Given the description of an element on the screen output the (x, y) to click on. 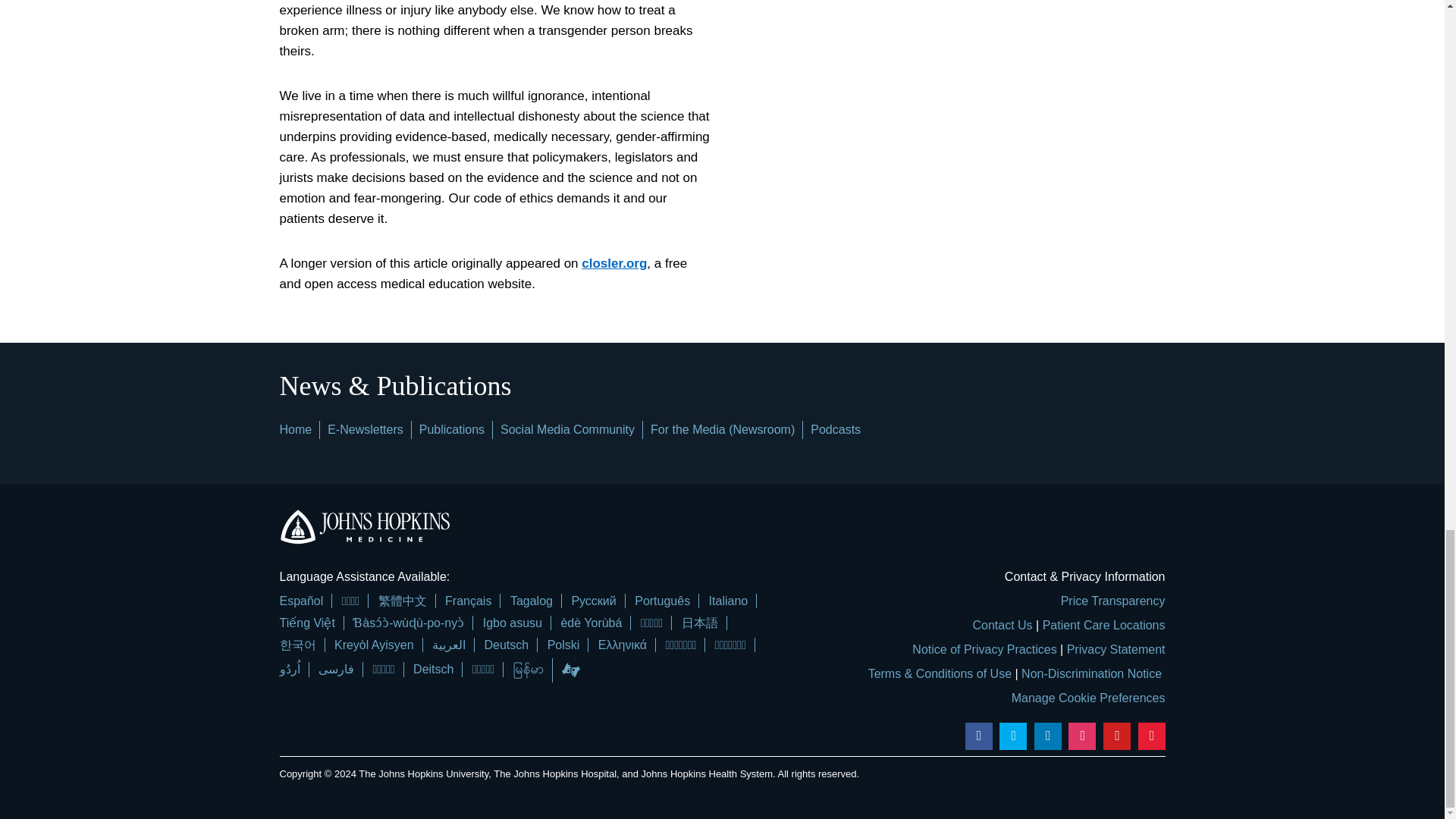
closler.org (613, 263)
Publications (451, 429)
Social Media Community (567, 429)
Home (295, 429)
E-Newsletters (365, 429)
